Given the description of an element on the screen output the (x, y) to click on. 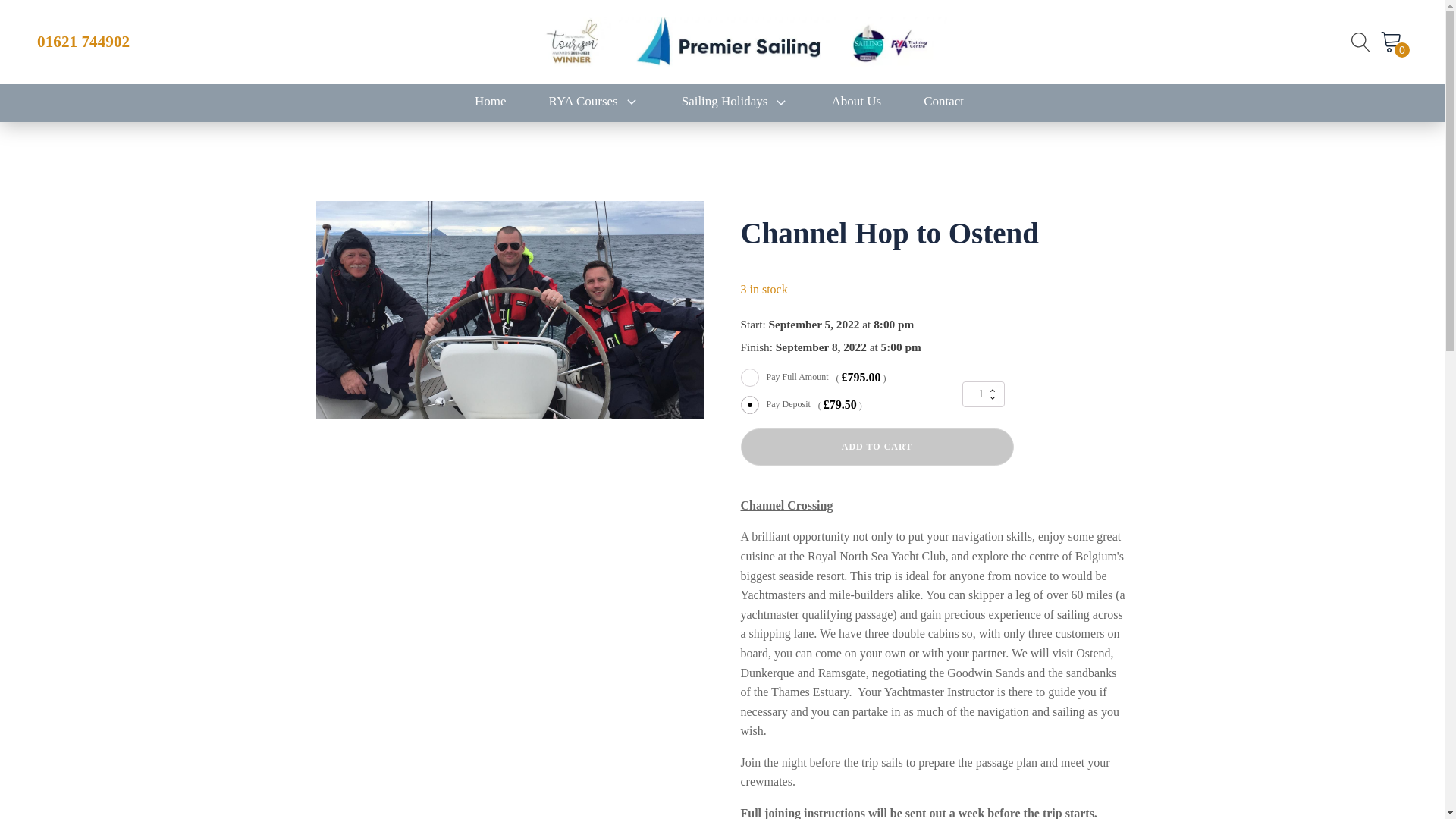
deposit (748, 404)
01621 744902 (83, 42)
Search (26, 9)
1 (982, 394)
full (748, 377)
